Given the description of an element on the screen output the (x, y) to click on. 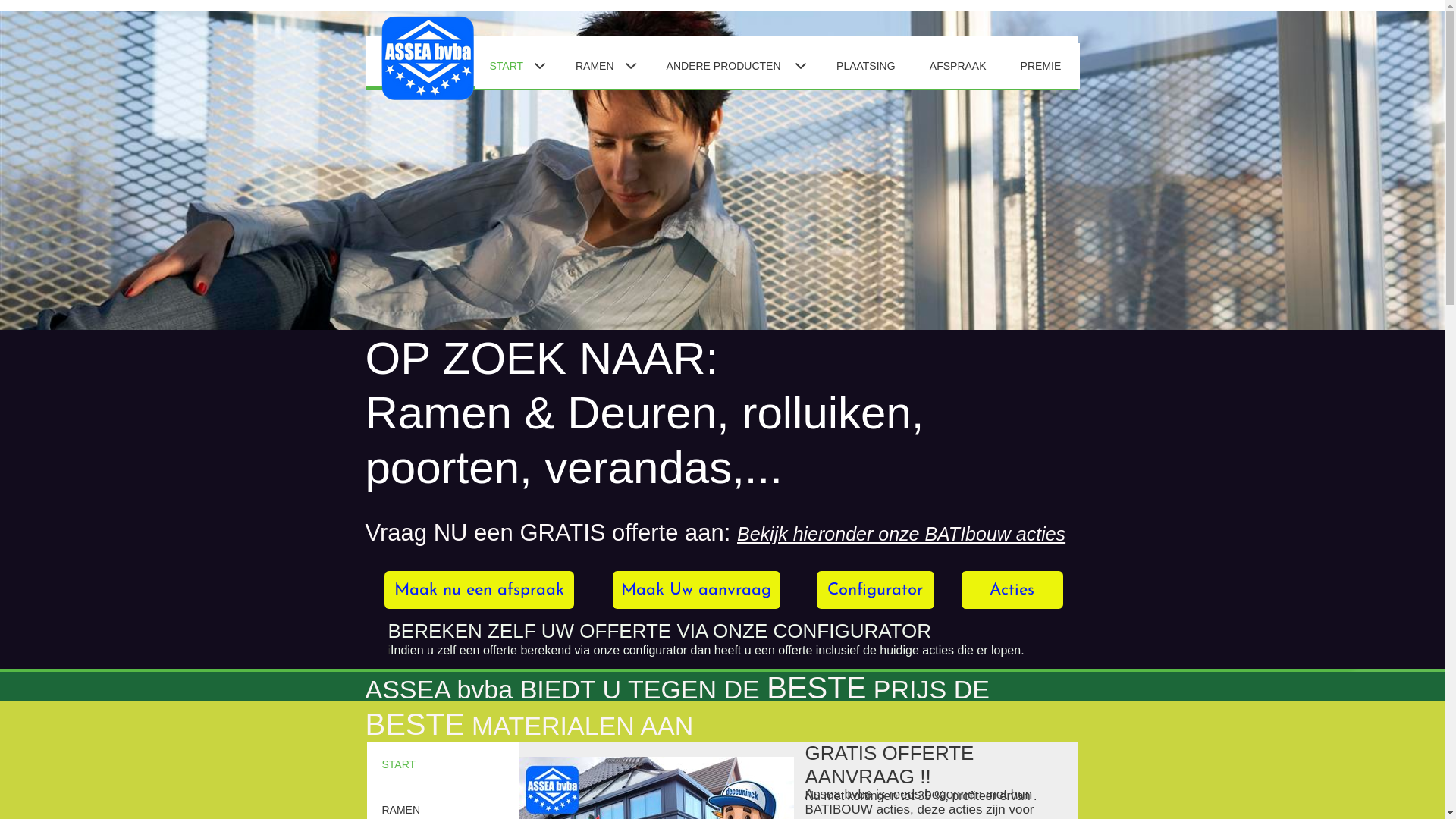
Configurator Element type: text (874, 589)
RAMEN Element type: text (605, 64)
START Element type: text (442, 764)
ANDERE PRODUCTEN Element type: text (736, 64)
Maak Uw aanvraag Element type: text (696, 589)
START Element type: text (517, 64)
AFSPRAAK Element type: text (959, 64)
PREMIE Element type: text (1042, 64)
Maak nu een afspraak Element type: text (478, 589)
PLAATSING Element type: text (867, 64)
Acties Element type: text (1012, 589)
